Given the description of an element on the screen output the (x, y) to click on. 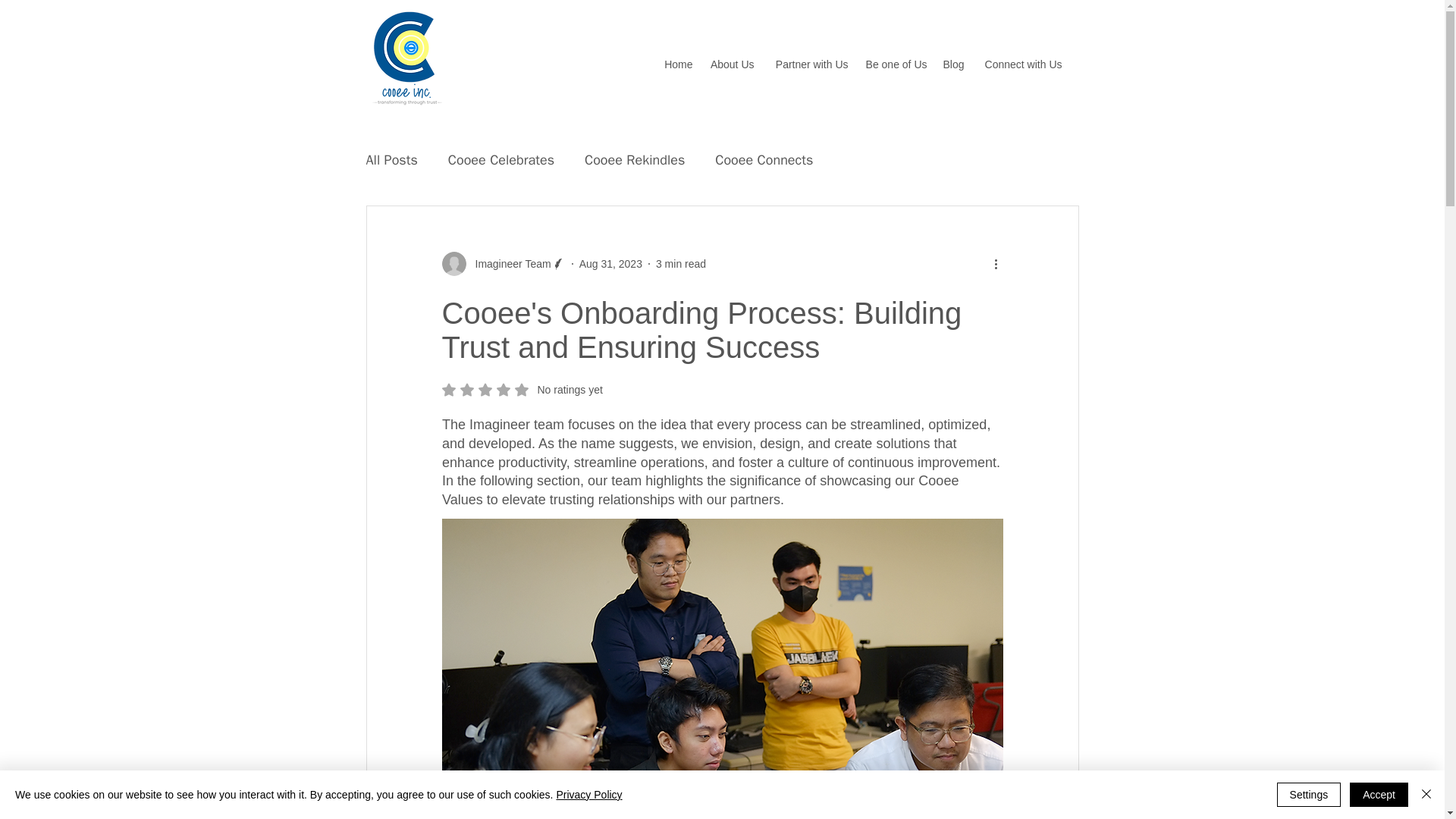
About Us (730, 64)
Imagineer Team (507, 263)
Partner with Us (808, 64)
Home (677, 64)
Imagineer Team (502, 263)
Blog (521, 389)
Cooee Celebrates (952, 64)
Aug 31, 2023 (501, 159)
3 min read (610, 263)
All Posts (681, 263)
Connect with Us (390, 159)
Cooee Connects (1021, 64)
Be one of Us (763, 159)
Cooee Rekindles (895, 64)
